Given the description of an element on the screen output the (x, y) to click on. 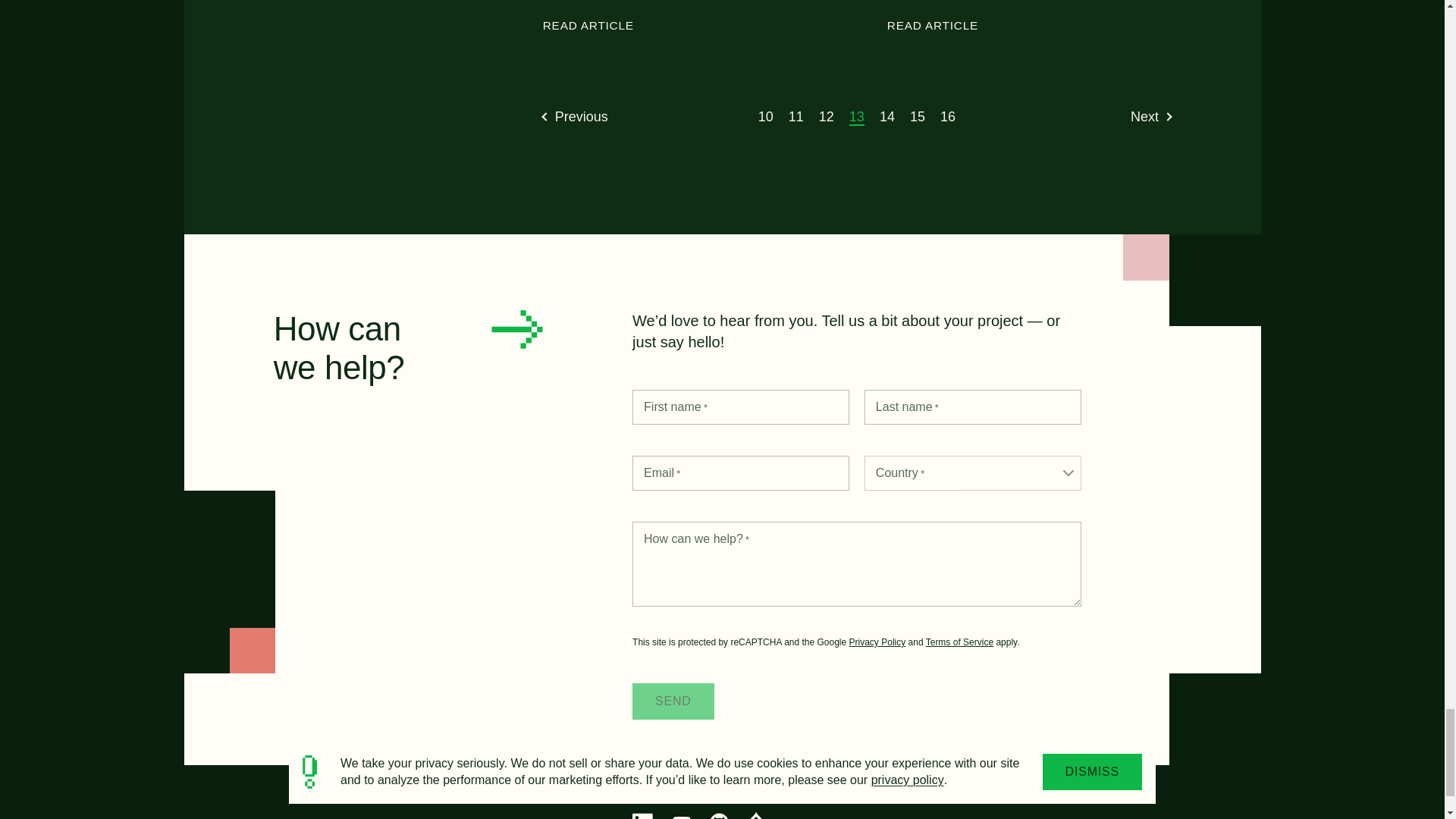
Send (672, 701)
